Given the description of an element on the screen output the (x, y) to click on. 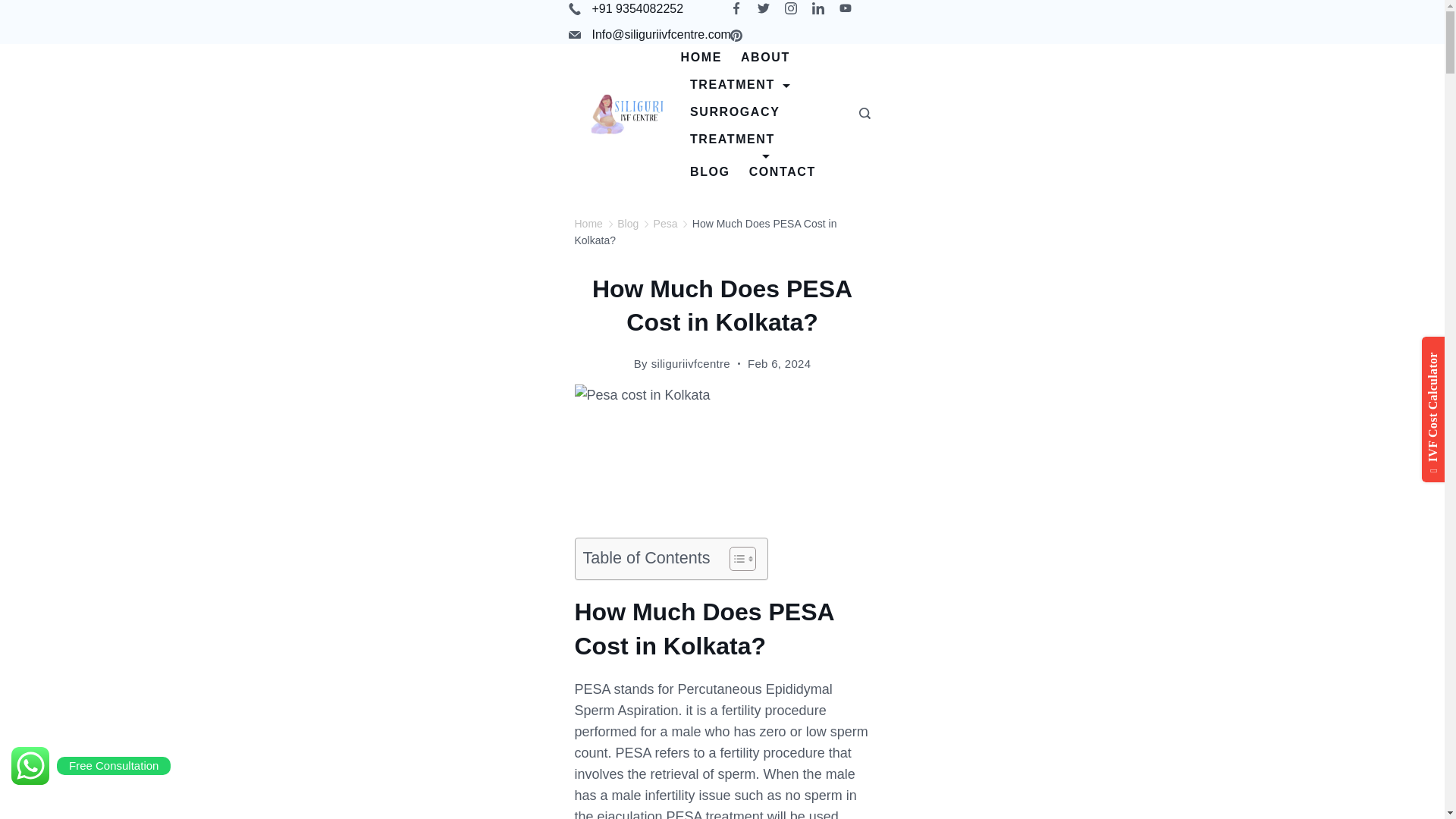
ABOUT (764, 57)
BLOG (710, 171)
SURROGACY TREATMENT (762, 128)
TREATMENT (740, 84)
HOME (706, 57)
